Given the description of an element on the screen output the (x, y) to click on. 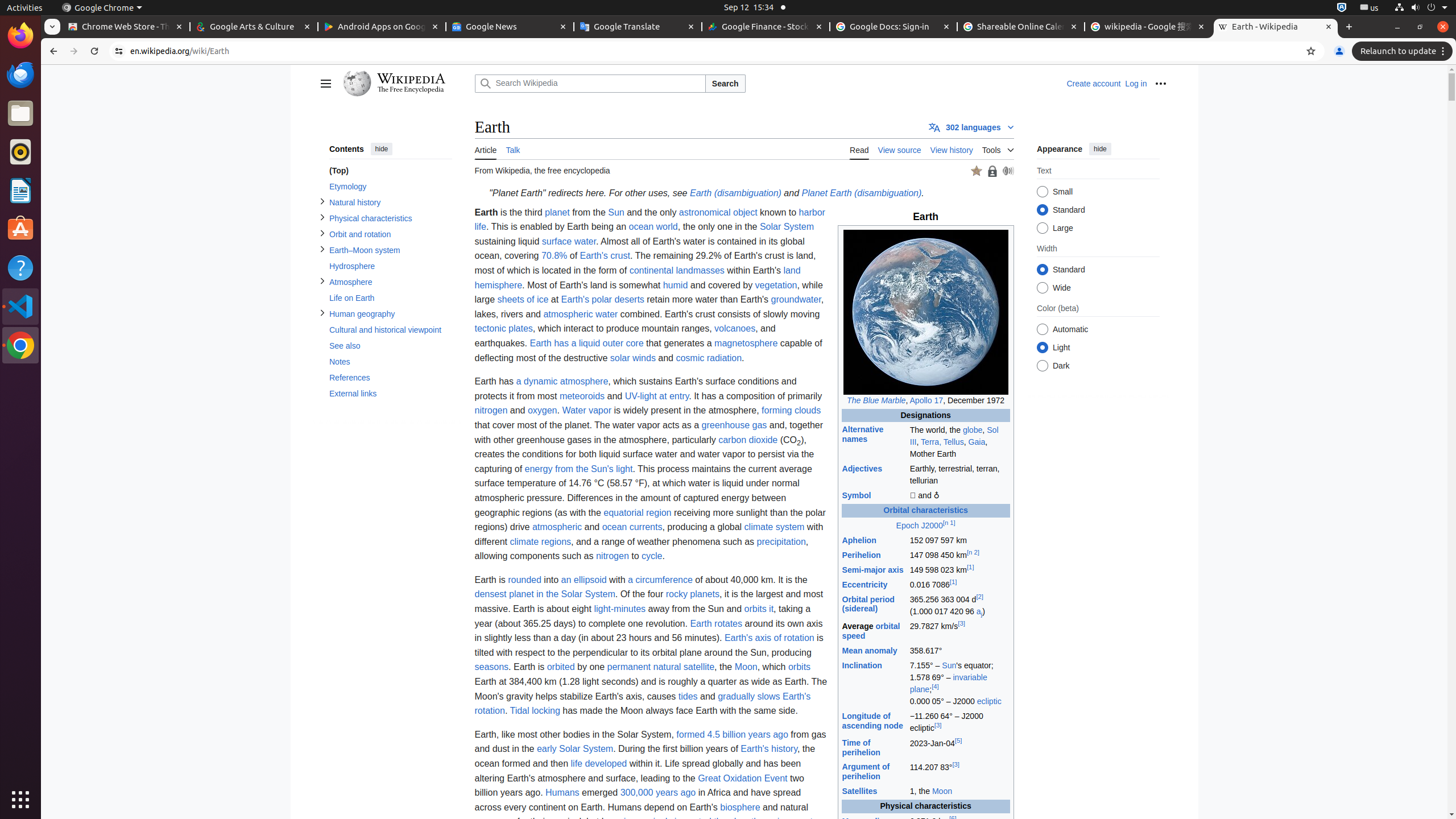
External links Element type: link (390, 393)
Wikipedia The Free Encyclopedia Element type: link (405, 83)
LibreOffice Writer Element type: push-button (20, 190)
Thunderbird Mail Element type: push-button (20, 74)
Symbol Element type: link (856, 495)
